Given the description of an element on the screen output the (x, y) to click on. 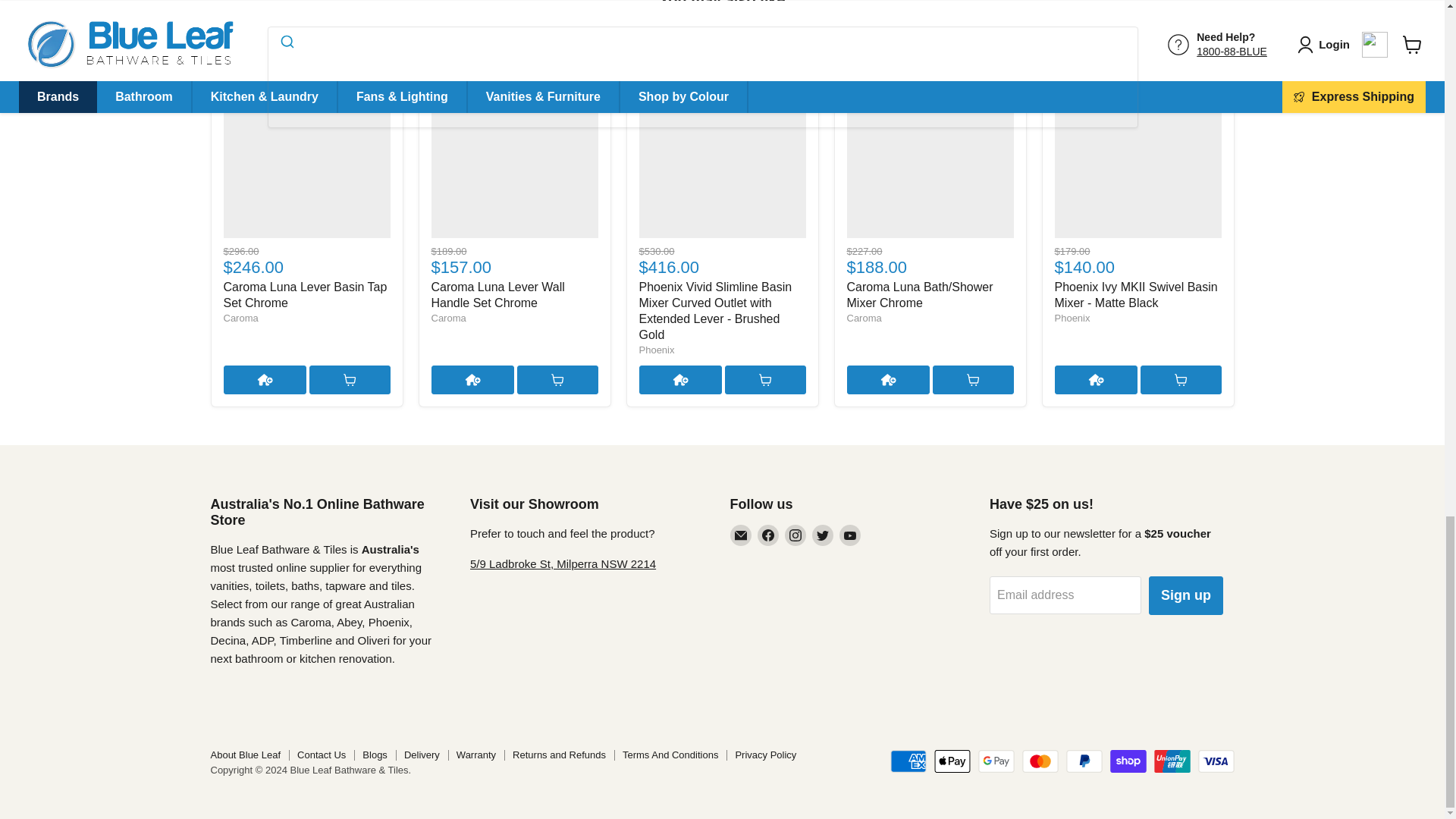
Caroma (239, 317)
